Given the description of an element on the screen output the (x, y) to click on. 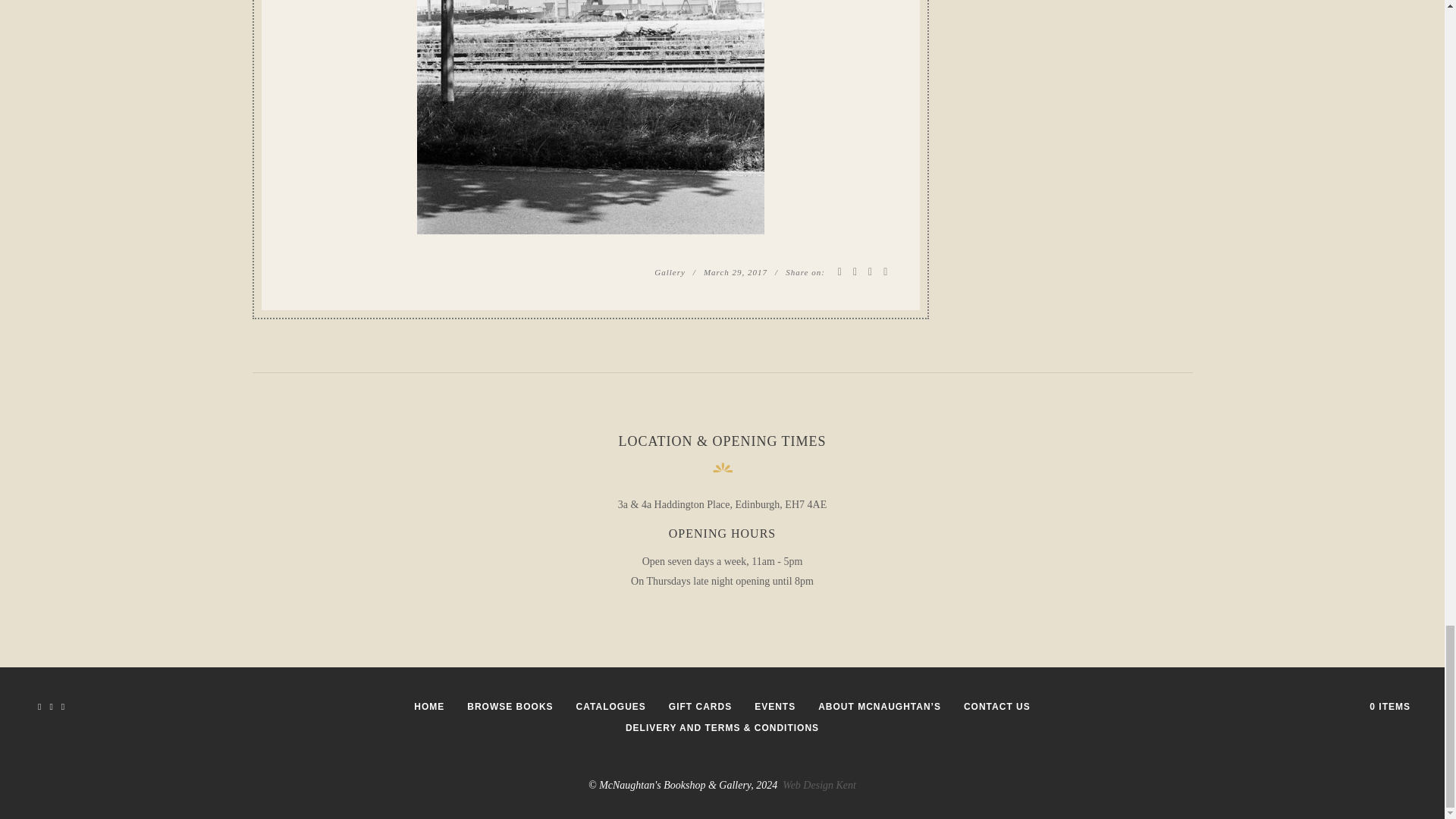
View your shopping cart (1390, 706)
Gallery (669, 271)
